Given the description of an element on the screen output the (x, y) to click on. 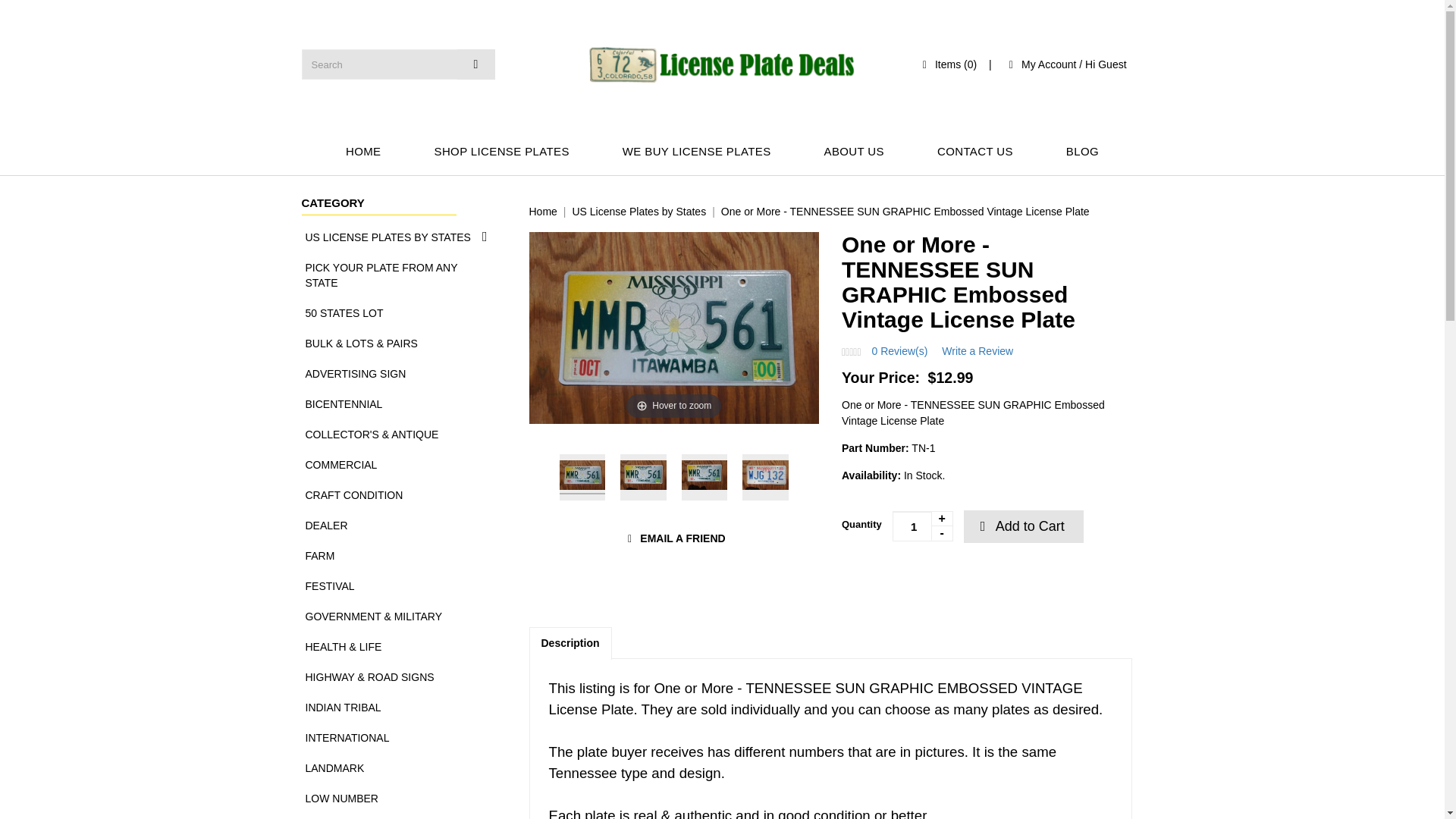
SHOP LICENSE PLATES (501, 152)
BLOG (1081, 152)
CONTACT US (975, 152)
ABOUT US (853, 152)
WE BUY LICENSE PLATES (697, 152)
HOME (363, 152)
1 (922, 526)
US LICENSE PLATES BY STATES (398, 236)
